Given the description of an element on the screen output the (x, y) to click on. 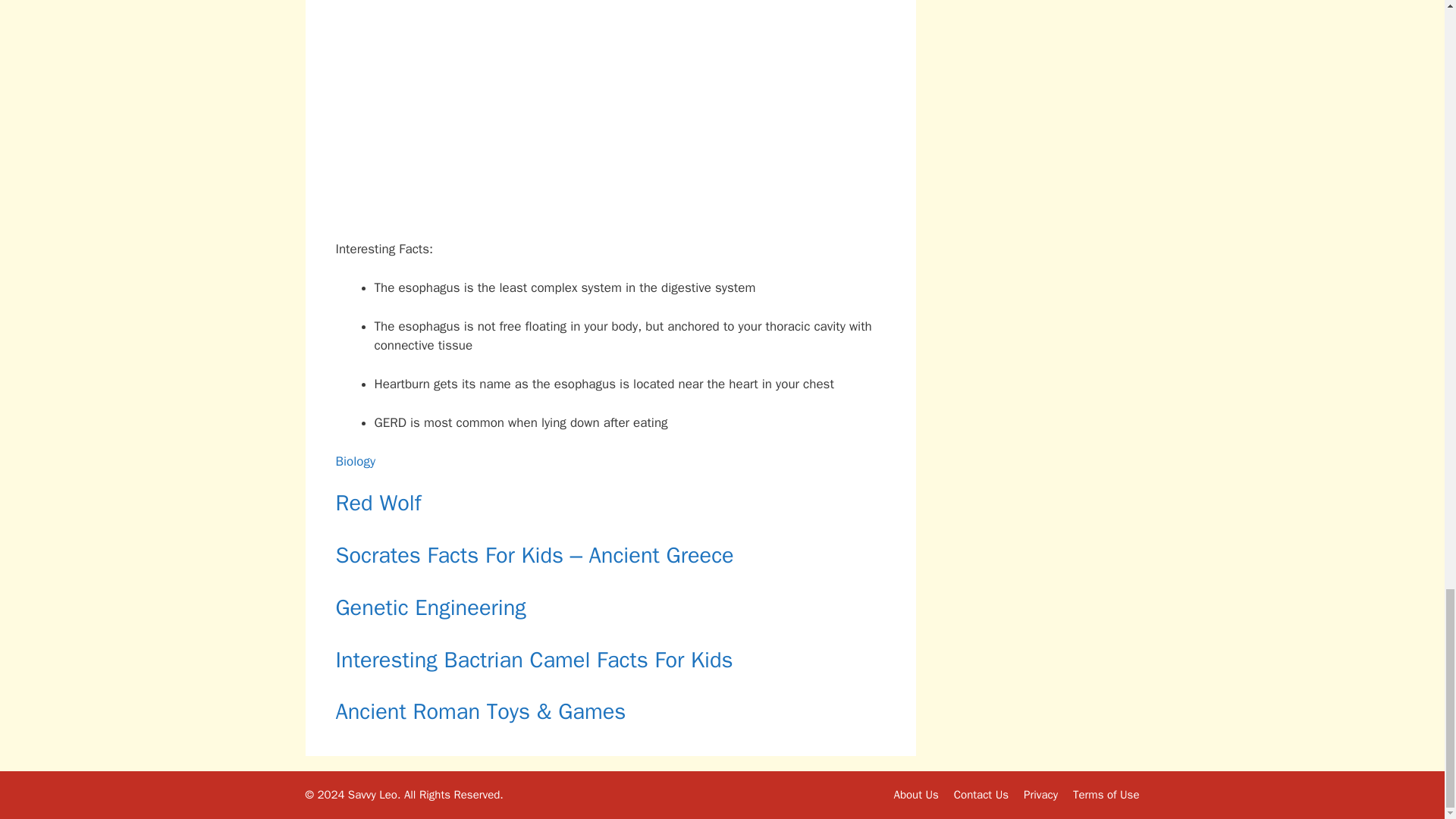
Biology (354, 461)
Genetic Engineering (429, 607)
About Us (915, 794)
Terms of Use (1106, 794)
Red Wolf (377, 502)
Contact Us (981, 794)
Privacy (1040, 794)
Interesting Bactrian Camel Facts For Kids (533, 660)
